Given the description of an element on the screen output the (x, y) to click on. 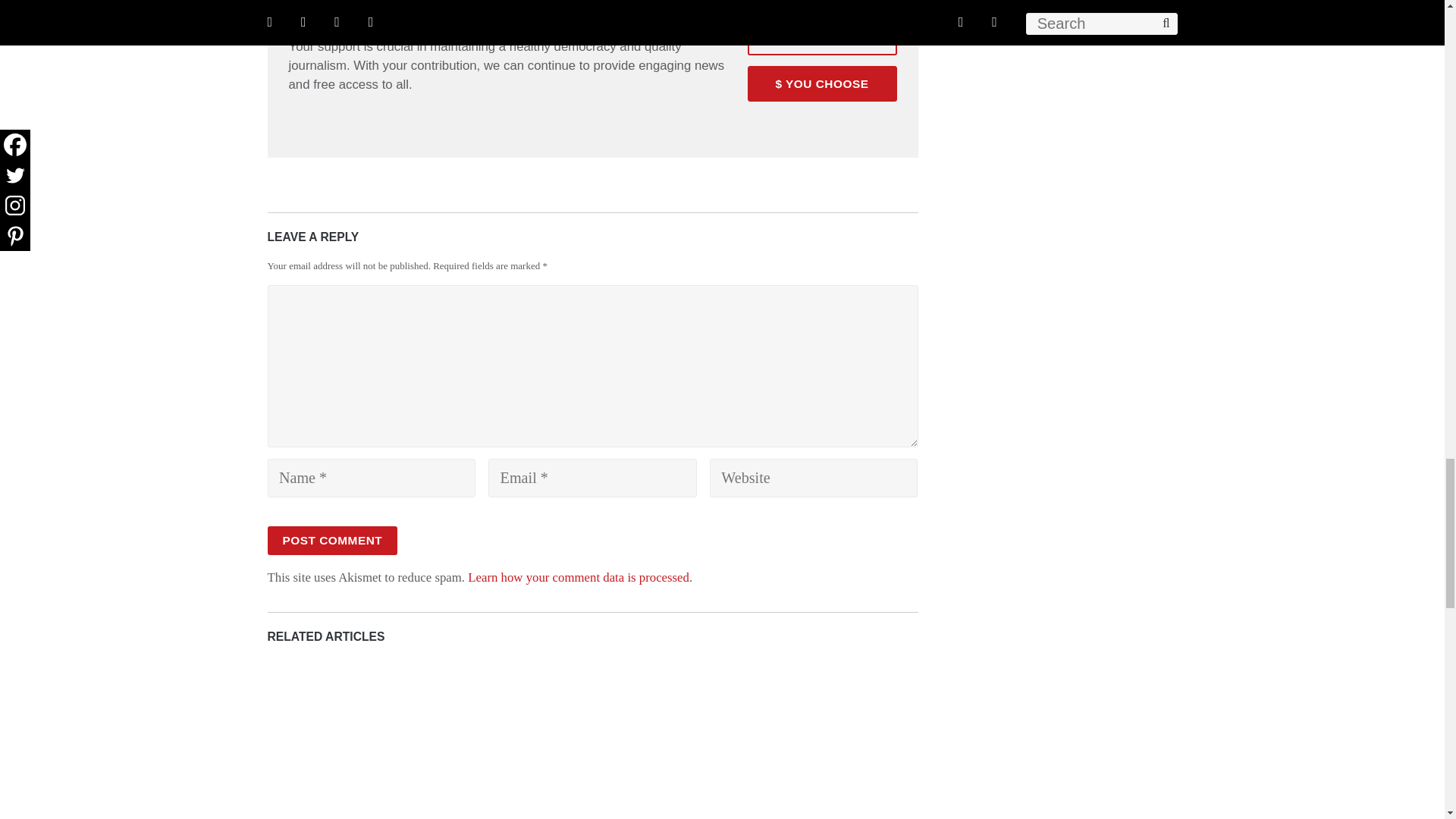
Post Comment (331, 540)
